Given the description of an element on the screen output the (x, y) to click on. 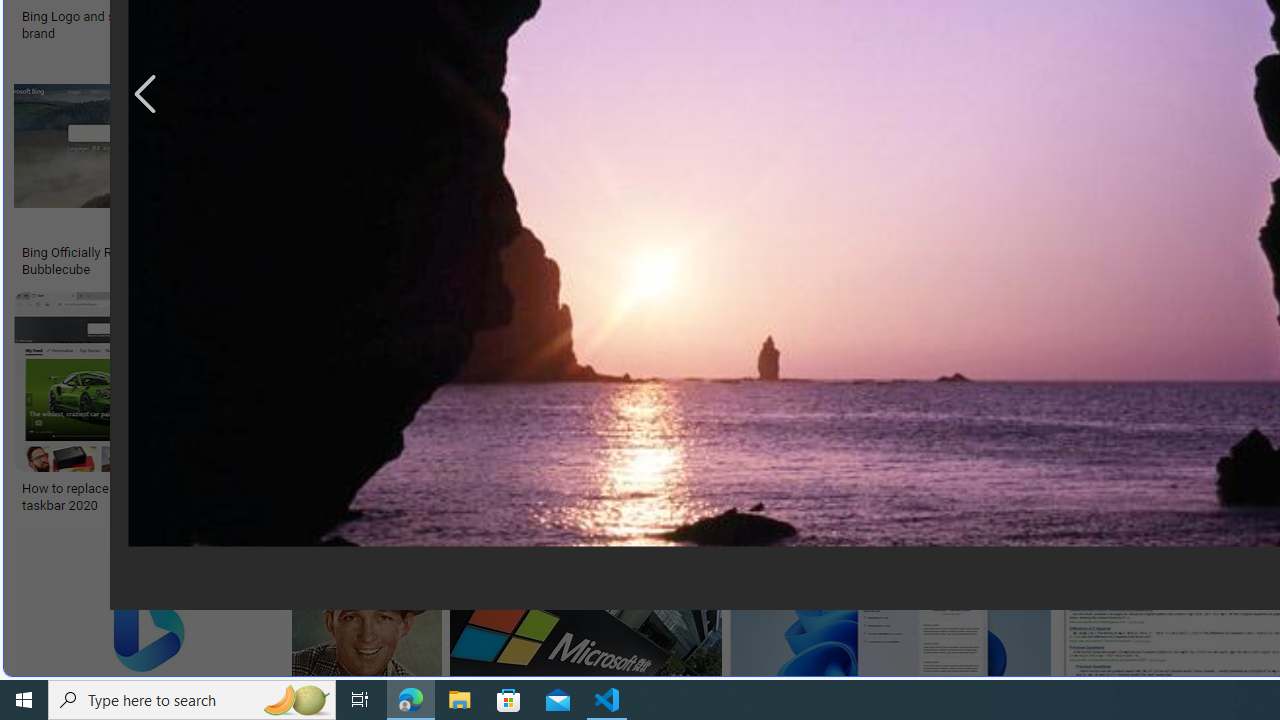
How to replace Bing in Windows 10 search on the taskbar 2020 (164, 497)
Bing Logo and symbol, meaning, history, PNG, brand (170, 24)
Bing Logo and symbol, meaning, history, PNG, brand (170, 24)
